Given the description of an element on the screen output the (x, y) to click on. 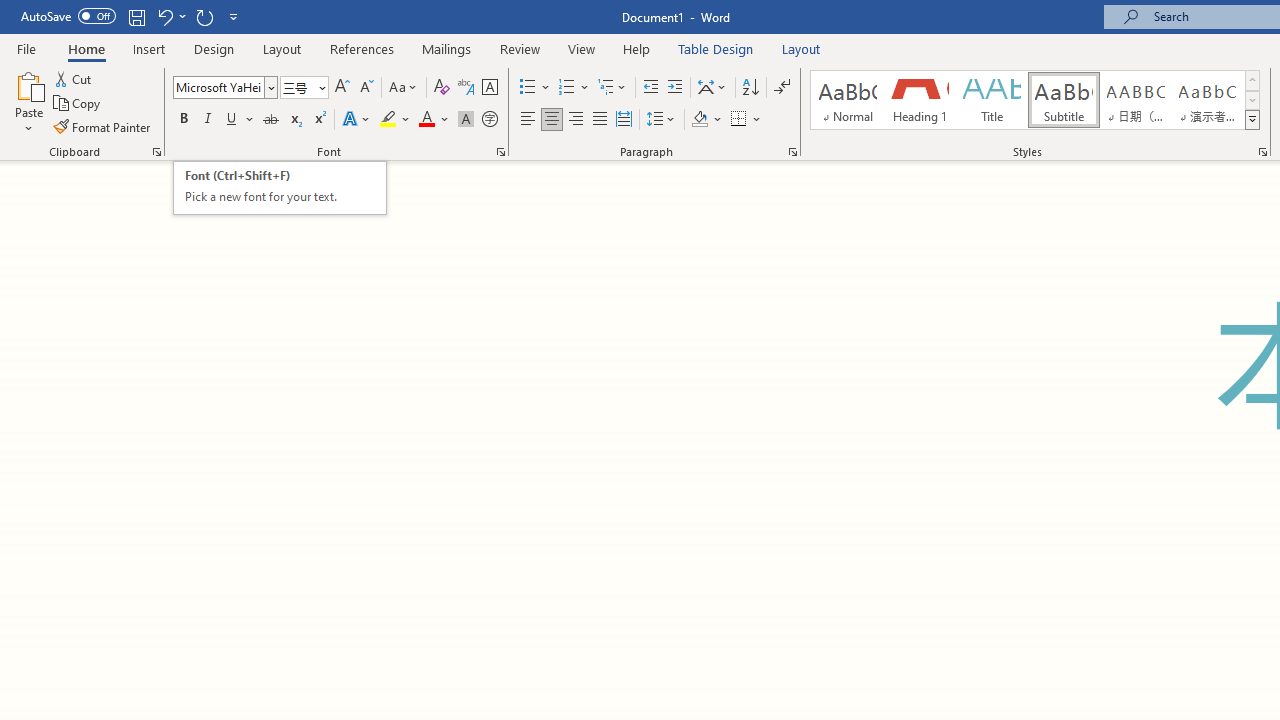
AutomationID: QuickStylesGallery (1035, 99)
Undo Grow Font (164, 15)
